Given the description of an element on the screen output the (x, y) to click on. 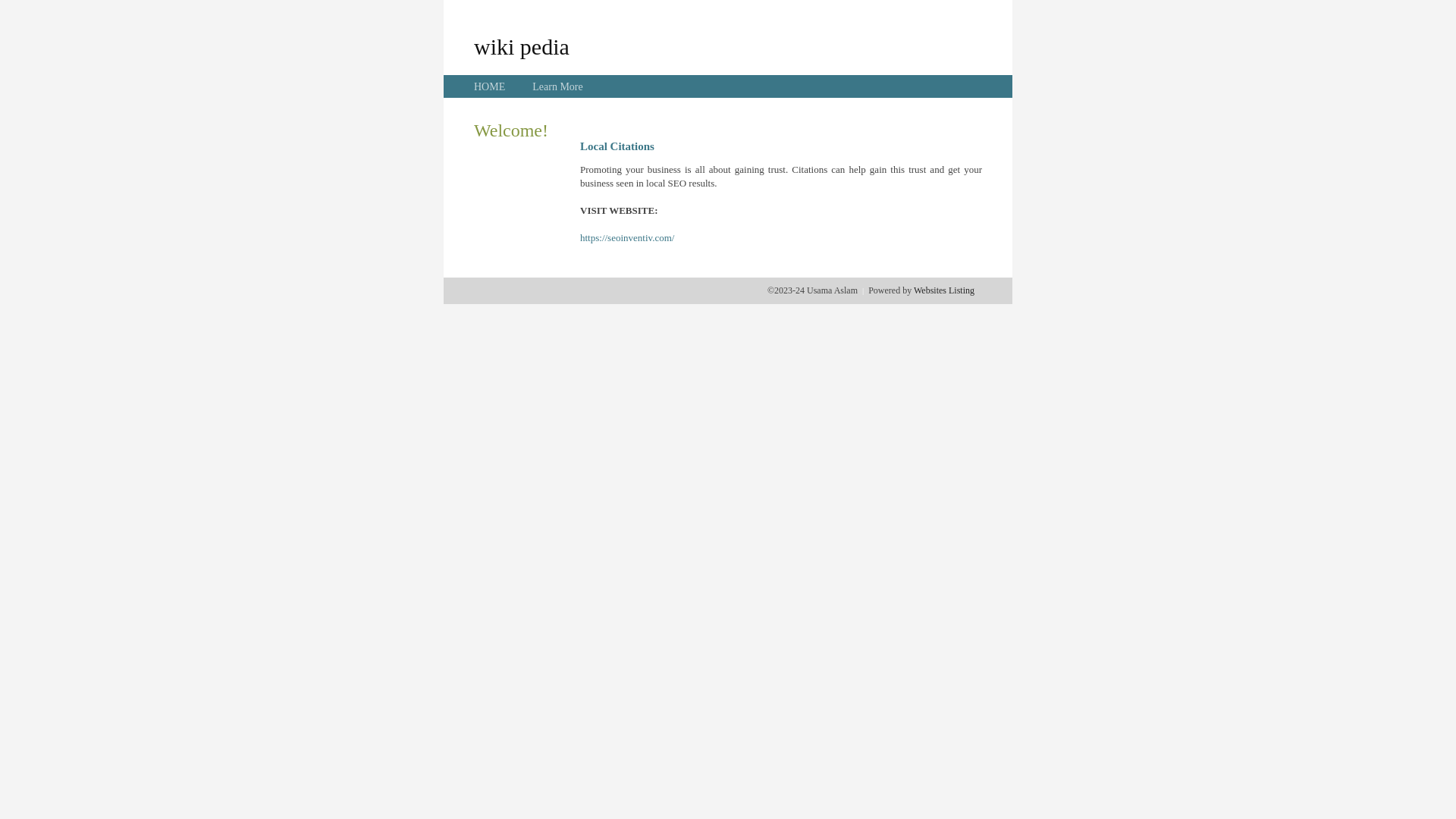
Learn More Element type: text (557, 86)
https://seoinventiv.com/ Element type: text (627, 237)
Websites Listing Element type: text (943, 290)
HOME Element type: text (489, 86)
wiki pedia Element type: text (521, 46)
